Given the description of an element on the screen output the (x, y) to click on. 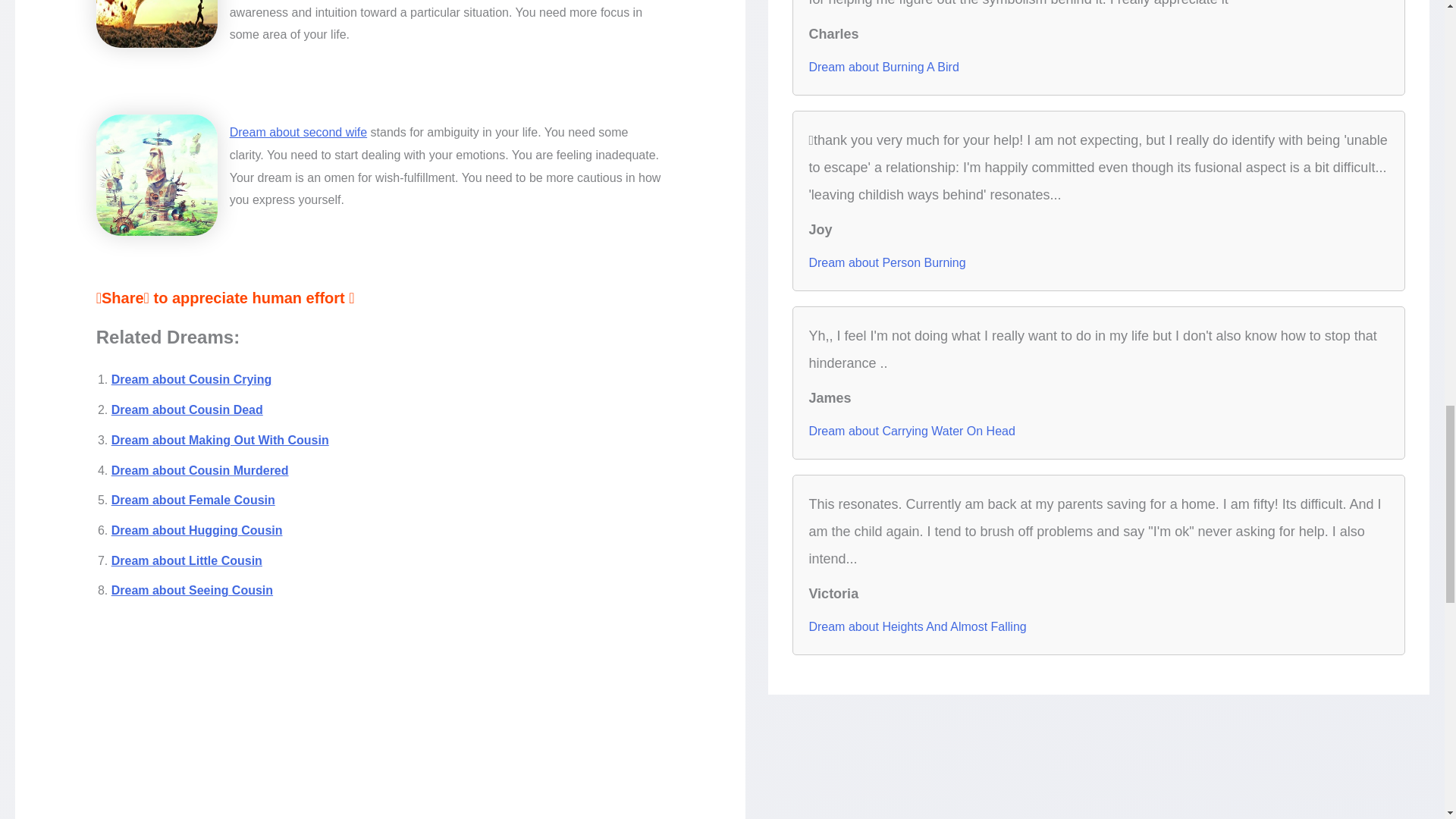
Dream about Carrying Water On Head (911, 431)
Dream about Seeing Cousin (192, 590)
Dream about Making Out With Cousin (220, 440)
Dream about Heights And Almost Falling (917, 627)
Dream about second wife (298, 132)
Dream about Cousin Murdered (200, 470)
Dream about Female Cousin (193, 499)
Dream about Burning A Bird (883, 67)
Dream about Hugging Cousin (197, 530)
Dream about Cousin Crying (192, 379)
Dream about Little Cousin (187, 560)
Dream about Cousin Crying (192, 379)
Dream about Person Burning (886, 262)
Dream about Seeing Cousin (192, 590)
Dream about Cousin Dead (187, 409)
